Given the description of an element on the screen output the (x, y) to click on. 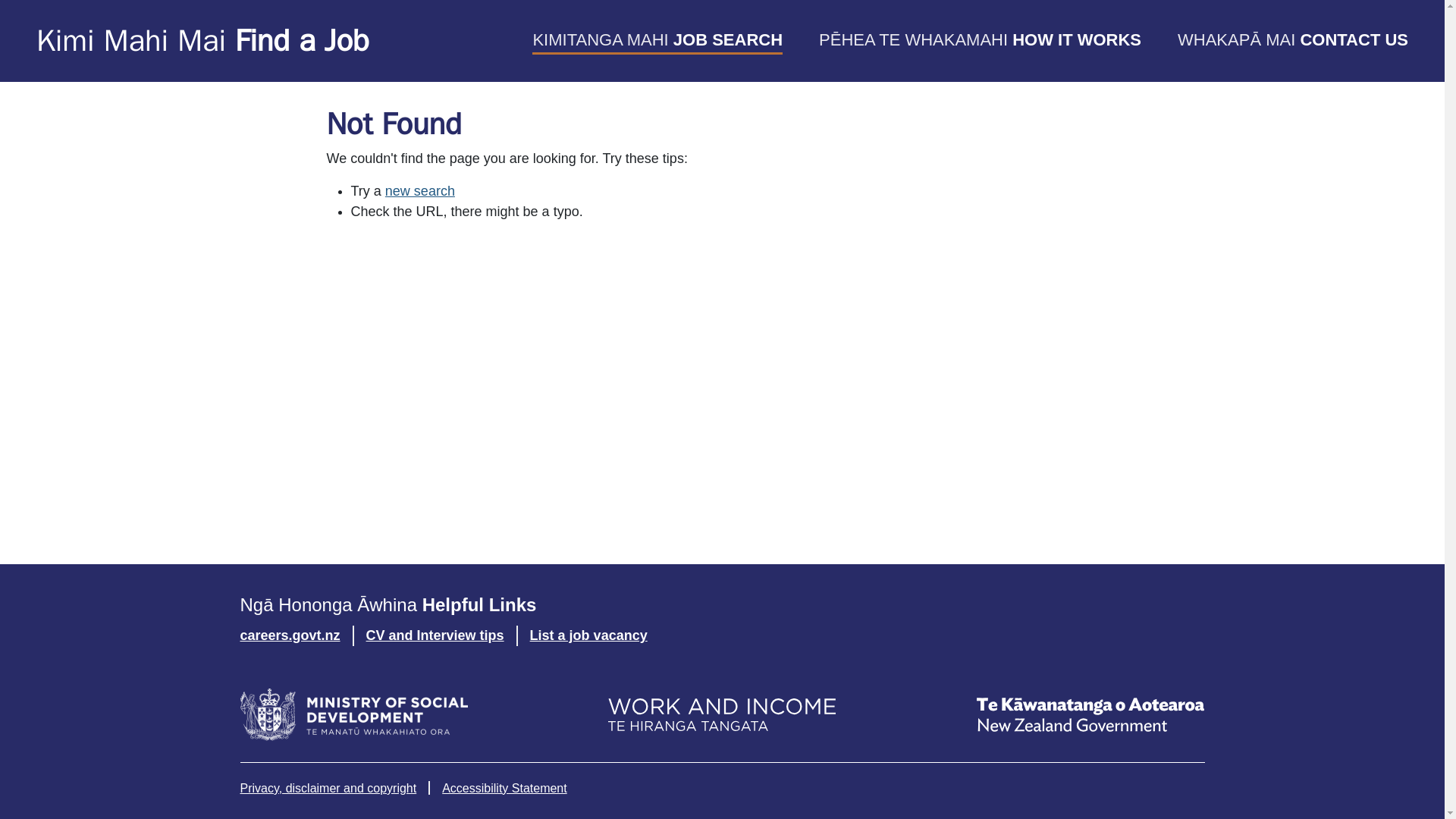
List a job vacancy (588, 635)
careers.govt.nz (288, 635)
Accessibility Statement (504, 787)
CV and Interview tips (434, 635)
KIMITANGA MAHI JOB SEARCH (657, 40)
Kimi Mahi Mai Find a Job (202, 40)
Privacy, disclaimer and copyright (327, 787)
new search (419, 191)
